Given the description of an element on the screen output the (x, y) to click on. 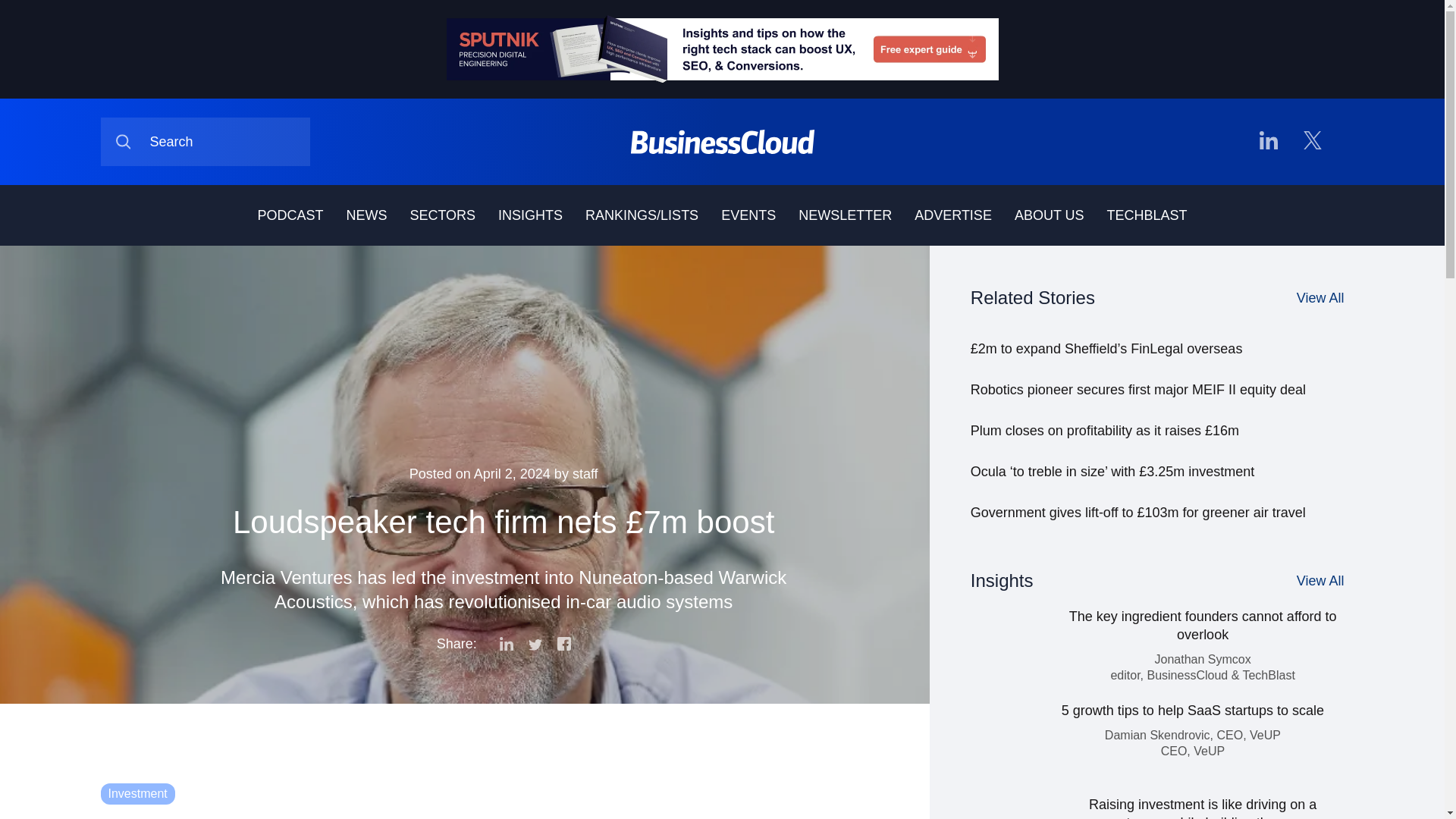
INSIGHTS (529, 215)
ADVERTISE (952, 215)
NEWSLETTER (844, 215)
EVENTS (748, 215)
ABOUT US (1049, 215)
PODCAST (290, 215)
Investment (137, 793)
TECHBLAST (1147, 215)
Search for: (204, 141)
SECTORS (442, 215)
NEWS (366, 215)
